Given the description of an element on the screen output the (x, y) to click on. 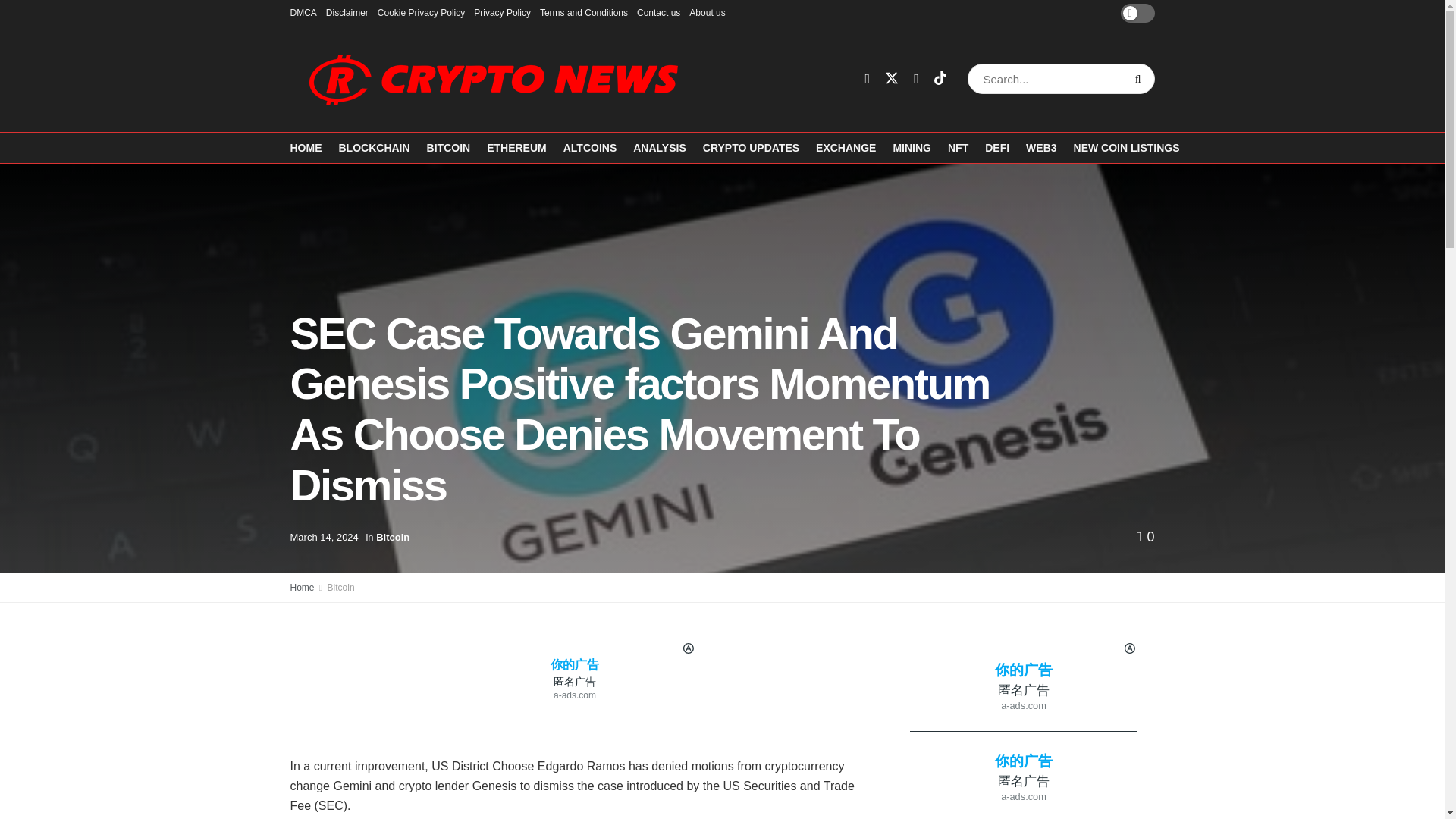
Cookie Privacy Policy (420, 12)
ETHEREUM (516, 147)
Disclaimer (347, 12)
NEW COIN LISTINGS (1126, 147)
Terms and Conditions (583, 12)
About us (706, 12)
CRYPTO UPDATES (751, 147)
HOME (305, 147)
Contact us (658, 12)
MINING (911, 147)
EXCHANGE (845, 147)
DMCA (302, 12)
ANALYSIS (659, 147)
BITCOIN (448, 147)
Privacy Policy (502, 12)
